Given the description of an element on the screen output the (x, y) to click on. 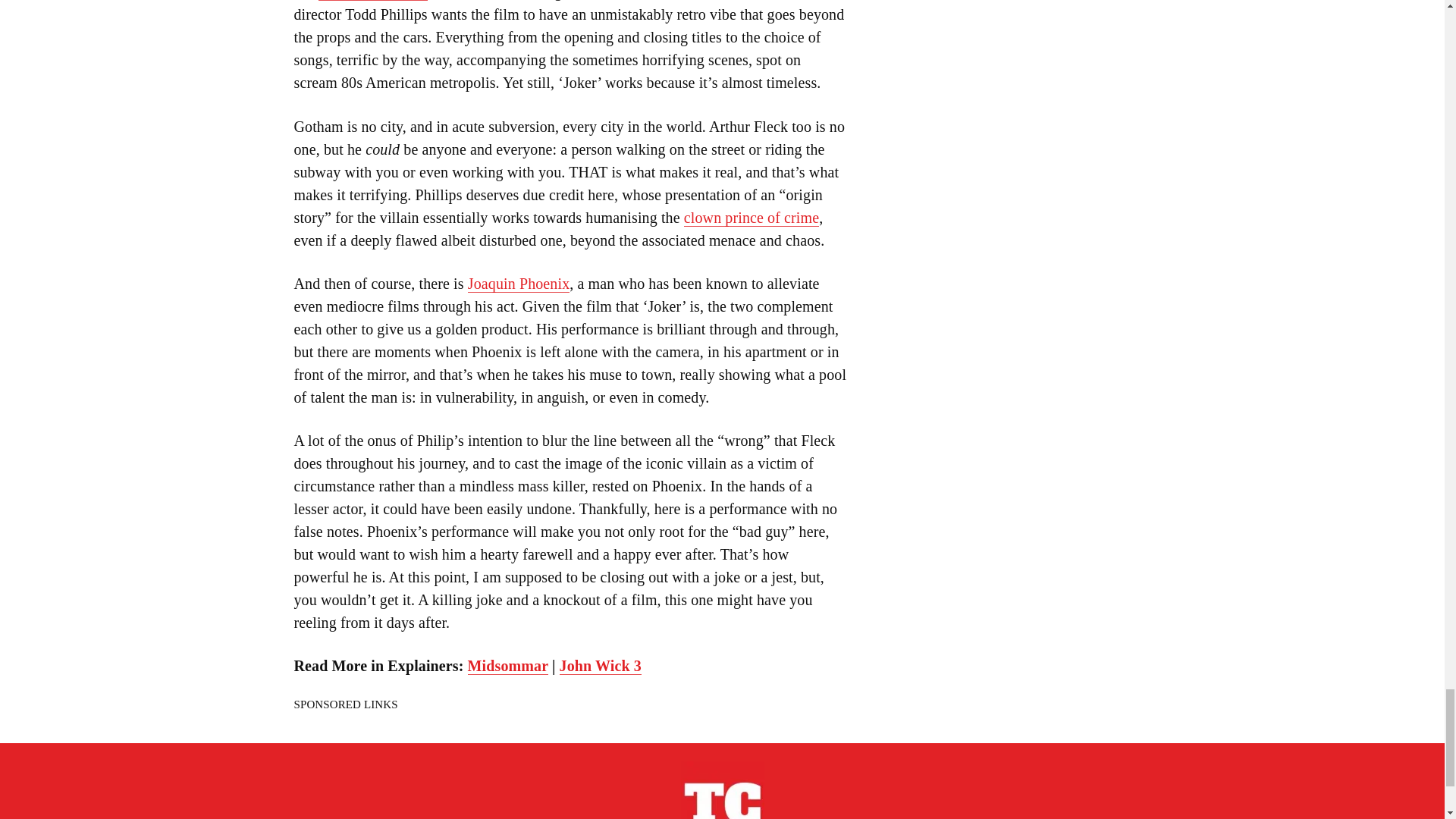
Midsommar (507, 665)
John Wick 3 (600, 665)
Joaquin Phoenix (518, 283)
clown prince of crime (751, 217)
